Given the description of an element on the screen output the (x, y) to click on. 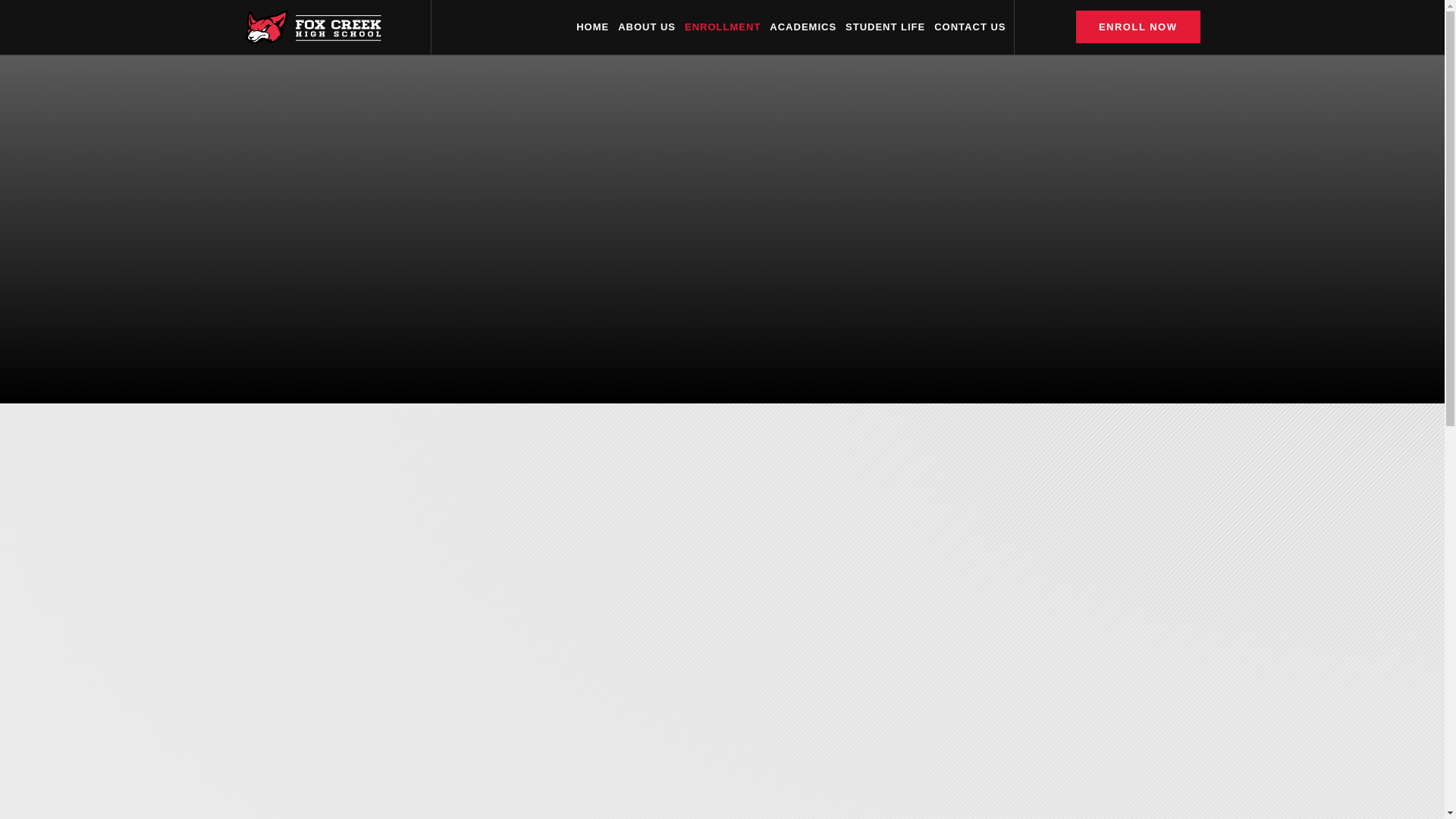
ACADEMICS (802, 26)
CONTACT US (970, 26)
STUDENT LIFE (884, 26)
ENROLLMENT (722, 26)
ABOUT US (646, 26)
